Given the description of an element on the screen output the (x, y) to click on. 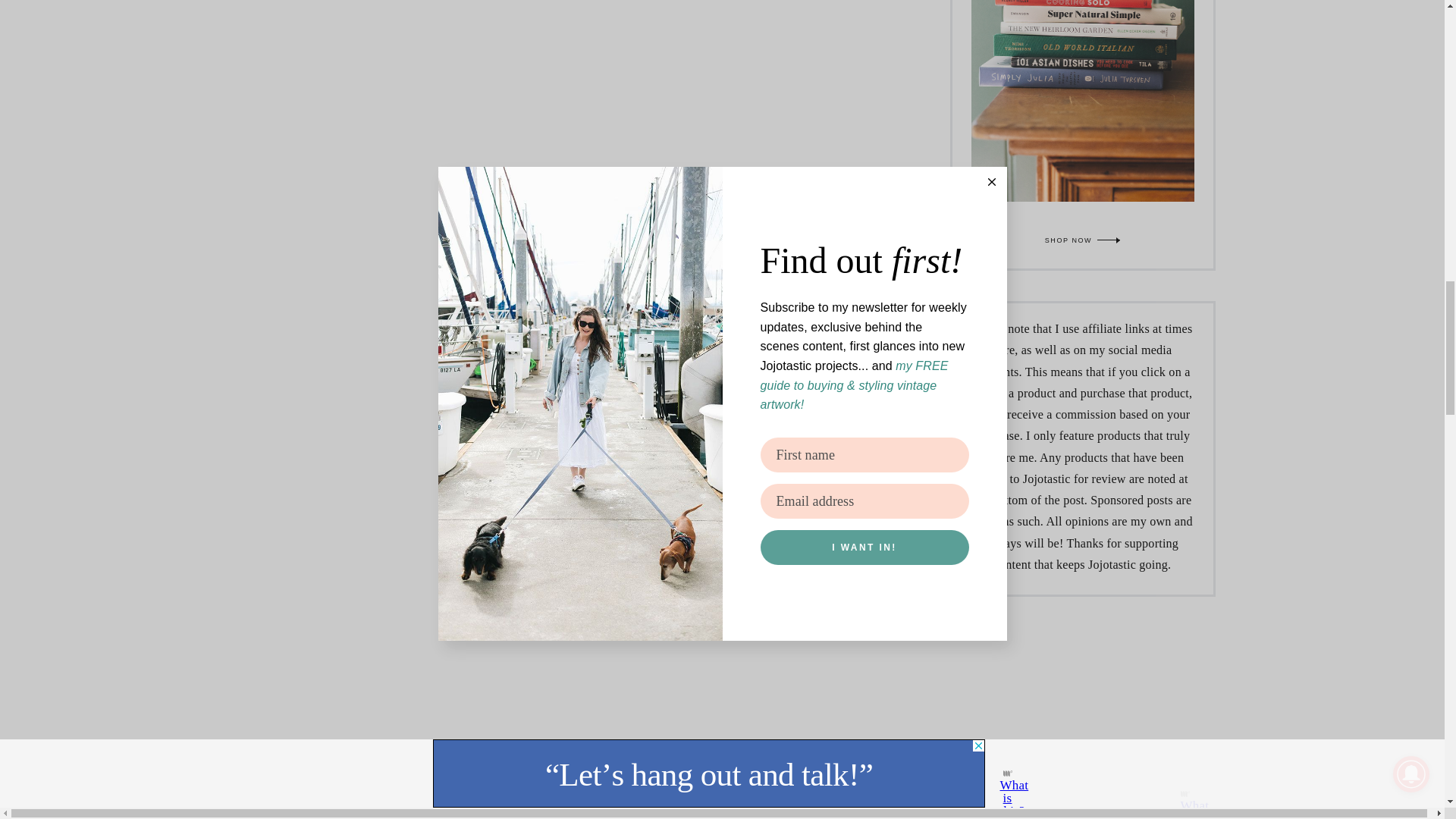
3rd party ad content (1082, 691)
